Given the description of an element on the screen output the (x, y) to click on. 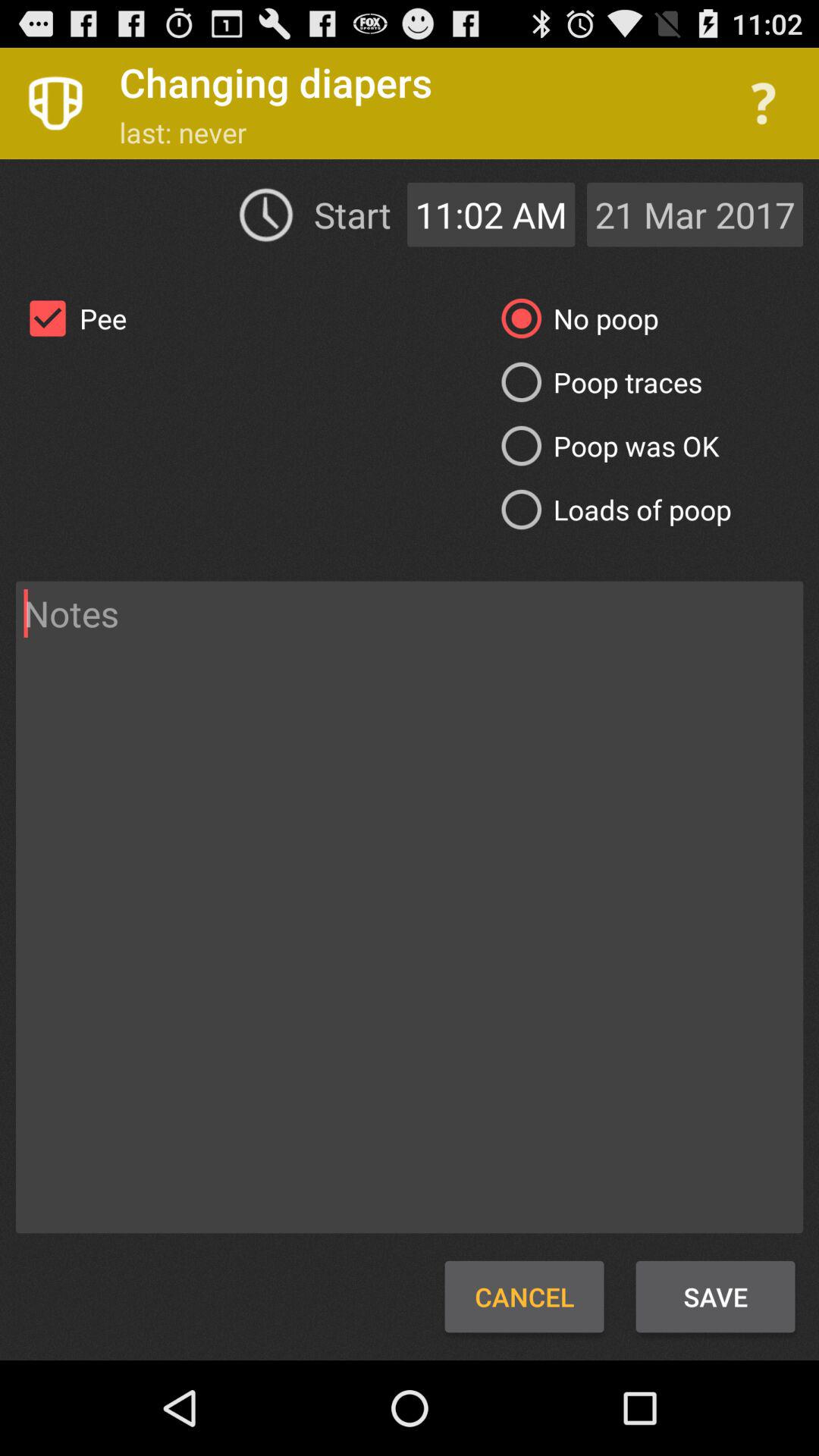
select the icon below the no poop item (595, 382)
